Given the description of an element on the screen output the (x, y) to click on. 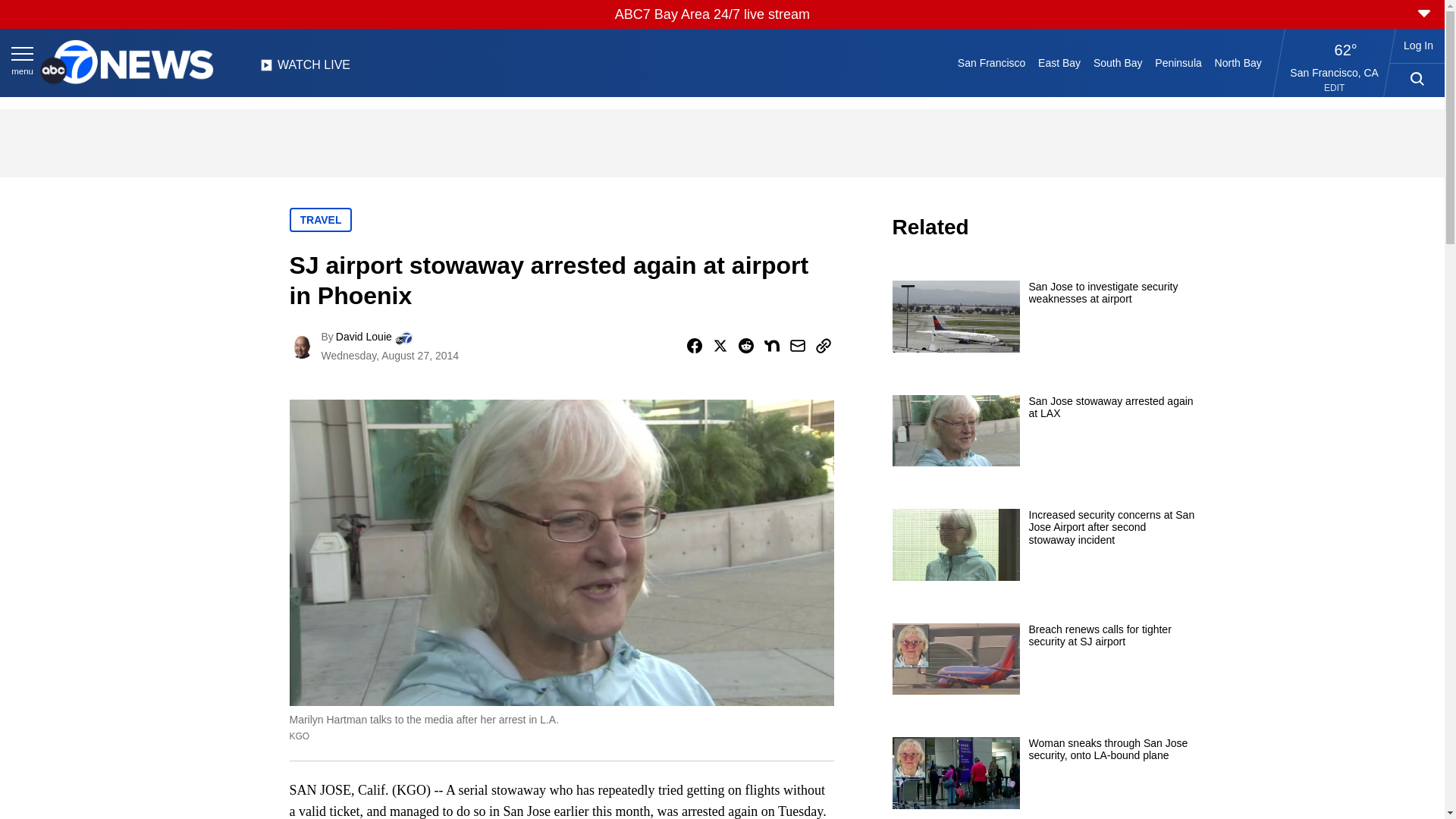
EDIT (1333, 87)
East Bay (1059, 62)
San Francisco (990, 62)
San Francisco, CA (1334, 72)
North Bay (1238, 62)
South Bay (1117, 62)
Peninsula (1178, 62)
WATCH LIVE (305, 69)
